Given the description of an element on the screen output the (x, y) to click on. 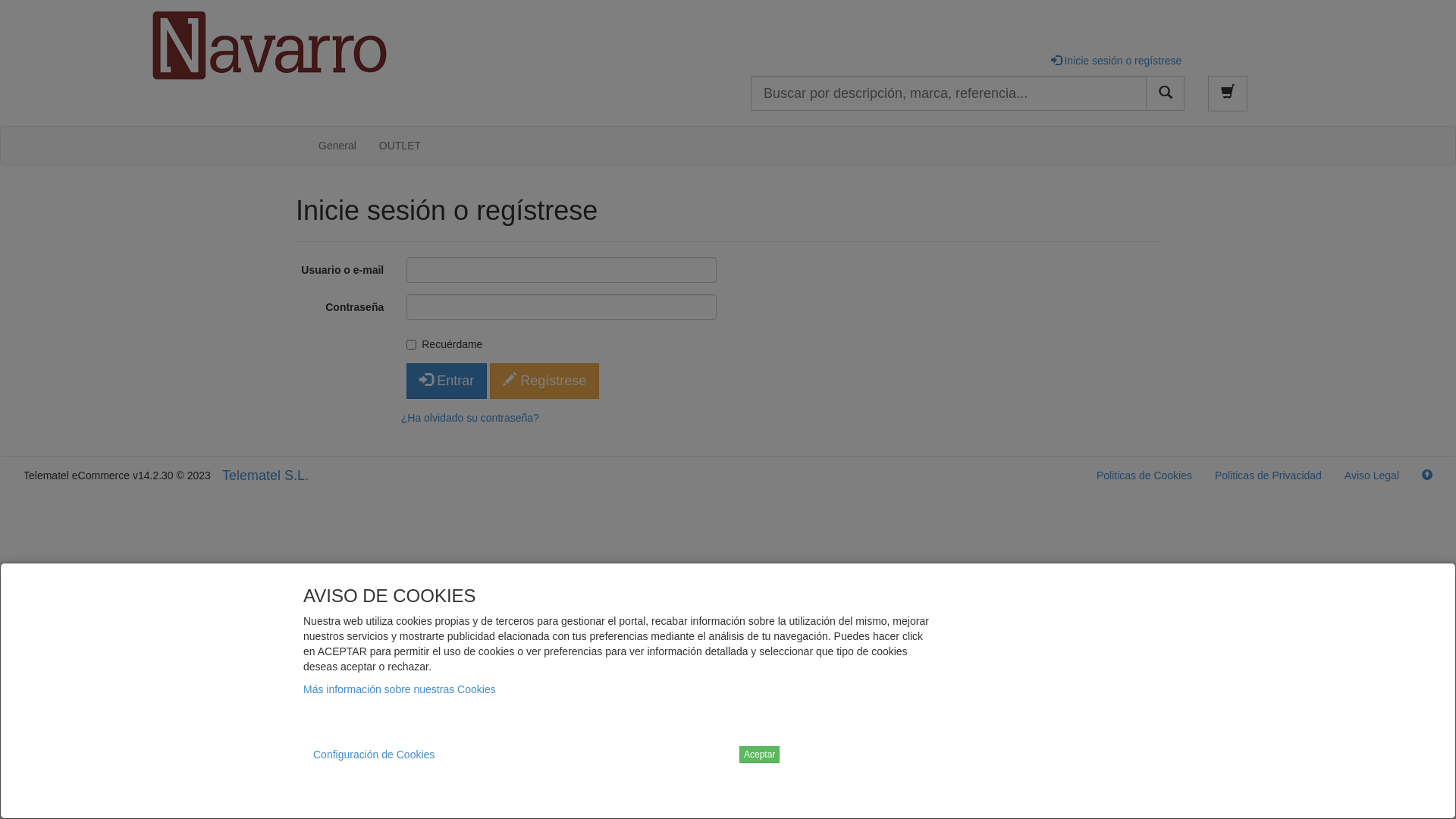
Telematel S.L. Element type: text (265, 475)
Ir arriba Element type: hover (1426, 475)
Politicas de Privacidad Element type: text (1268, 475)
General Element type: text (337, 145)
Politicas de Cookies Element type: text (1144, 475)
OUTLET Element type: text (399, 145)
Entrar Element type: text (446, 380)
Aceptar Element type: text (759, 754)
Aviso Legal Element type: text (1371, 475)
